Given the description of an element on the screen output the (x, y) to click on. 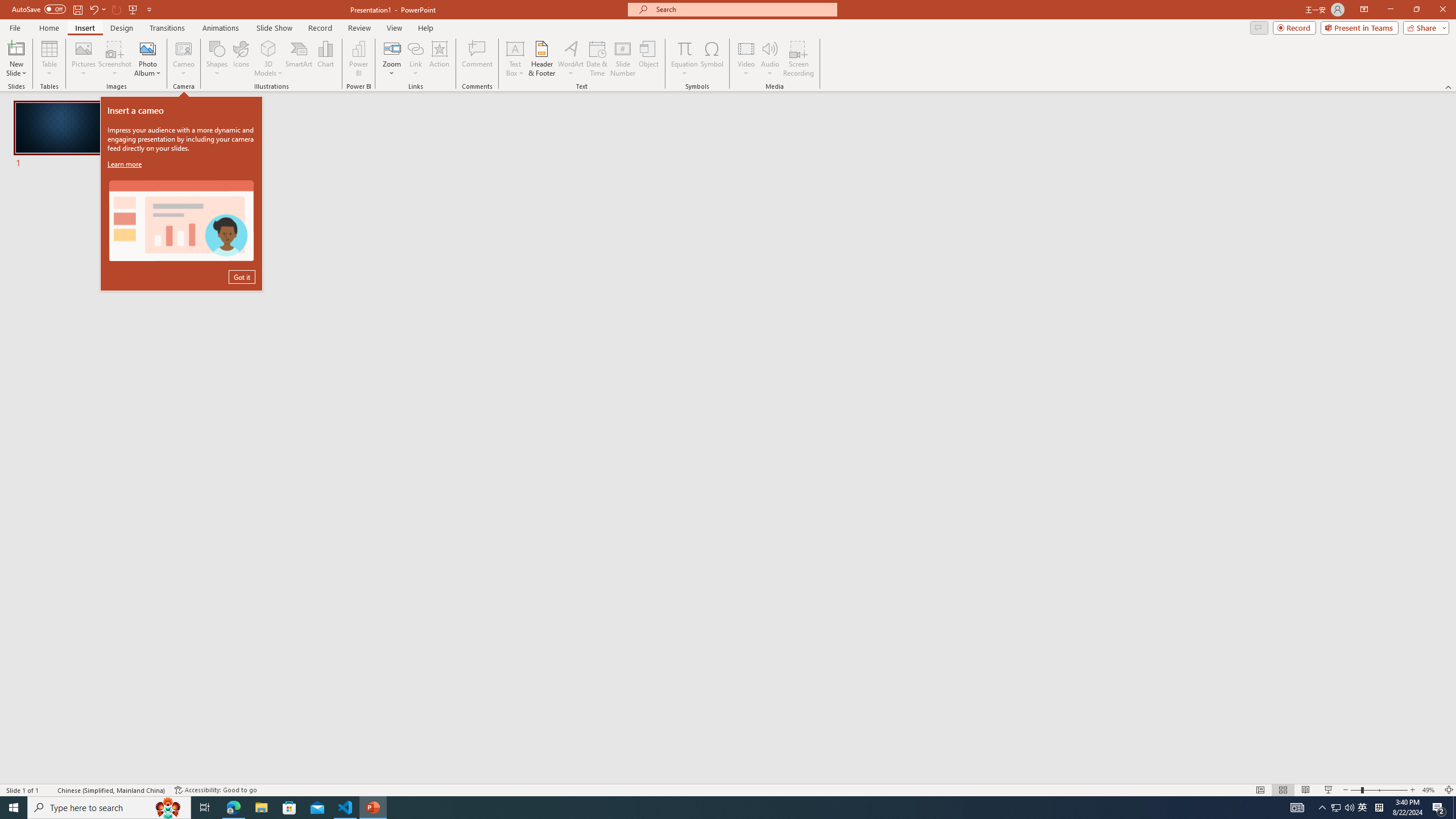
Photo Album... (147, 58)
Zoom 49% (1430, 790)
WordArt (570, 58)
Slide Number (622, 58)
SmartArt... (298, 58)
